Given the description of an element on the screen output the (x, y) to click on. 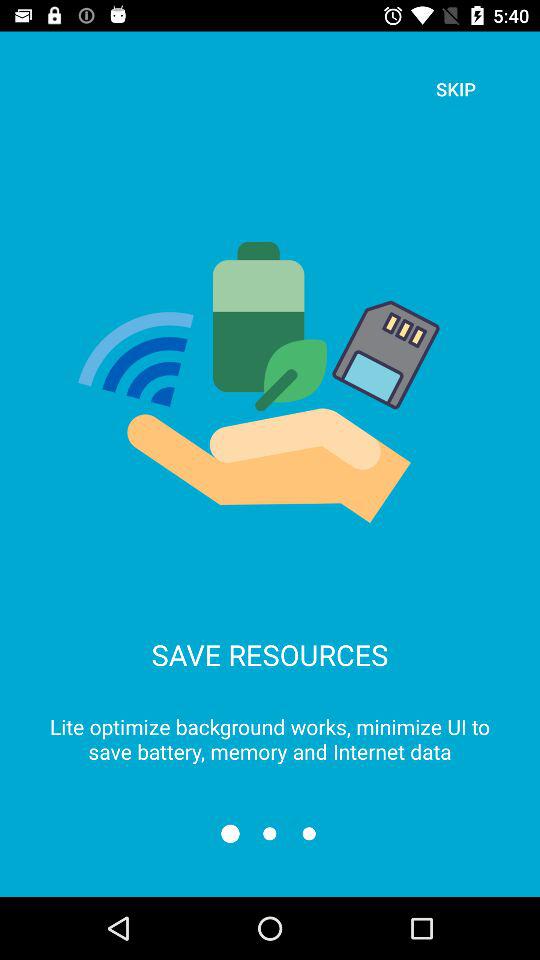
launch the item at the top right corner (455, 88)
